Given the description of an element on the screen output the (x, y) to click on. 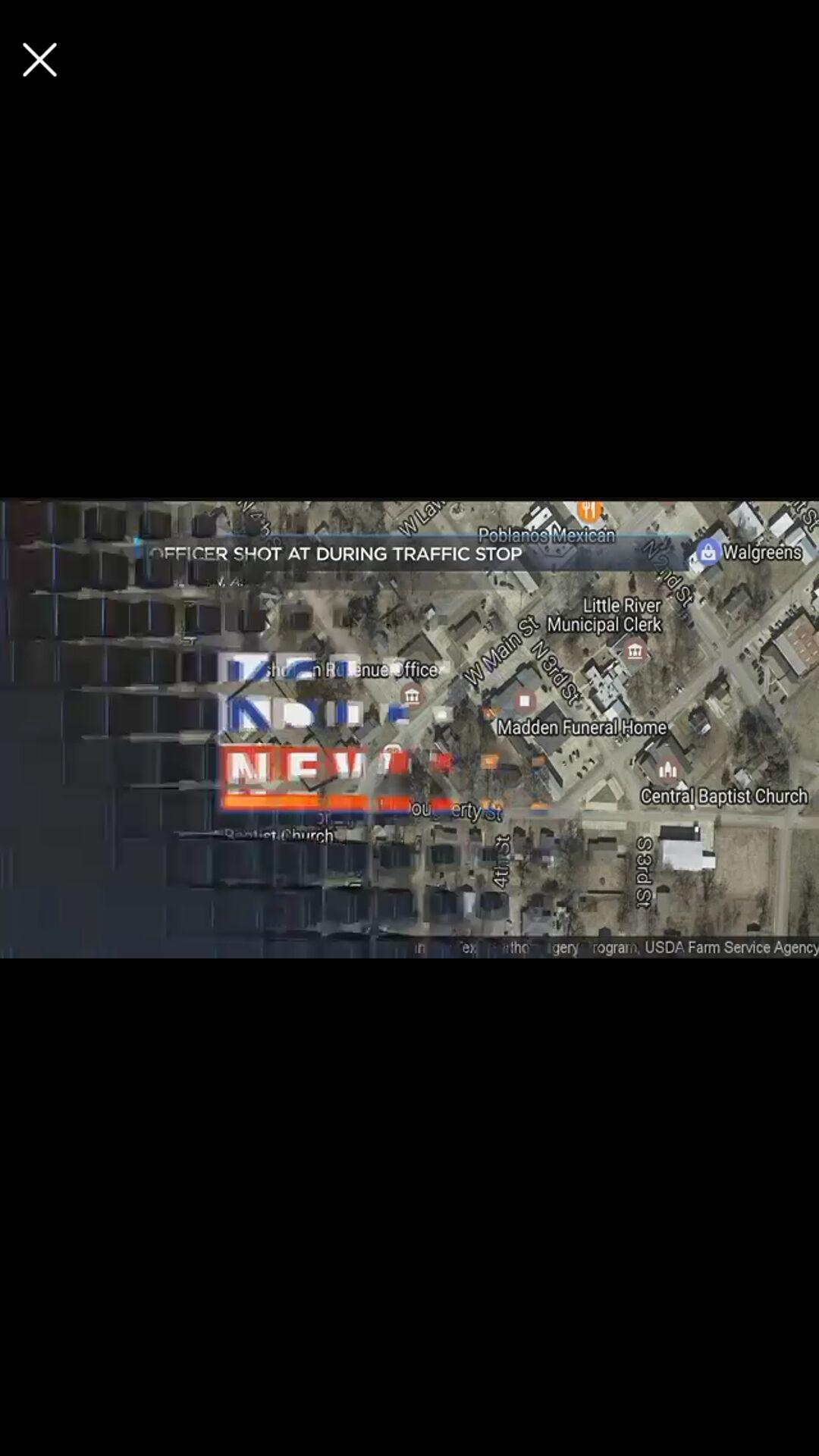
close button (39, 59)
